Given the description of an element on the screen output the (x, y) to click on. 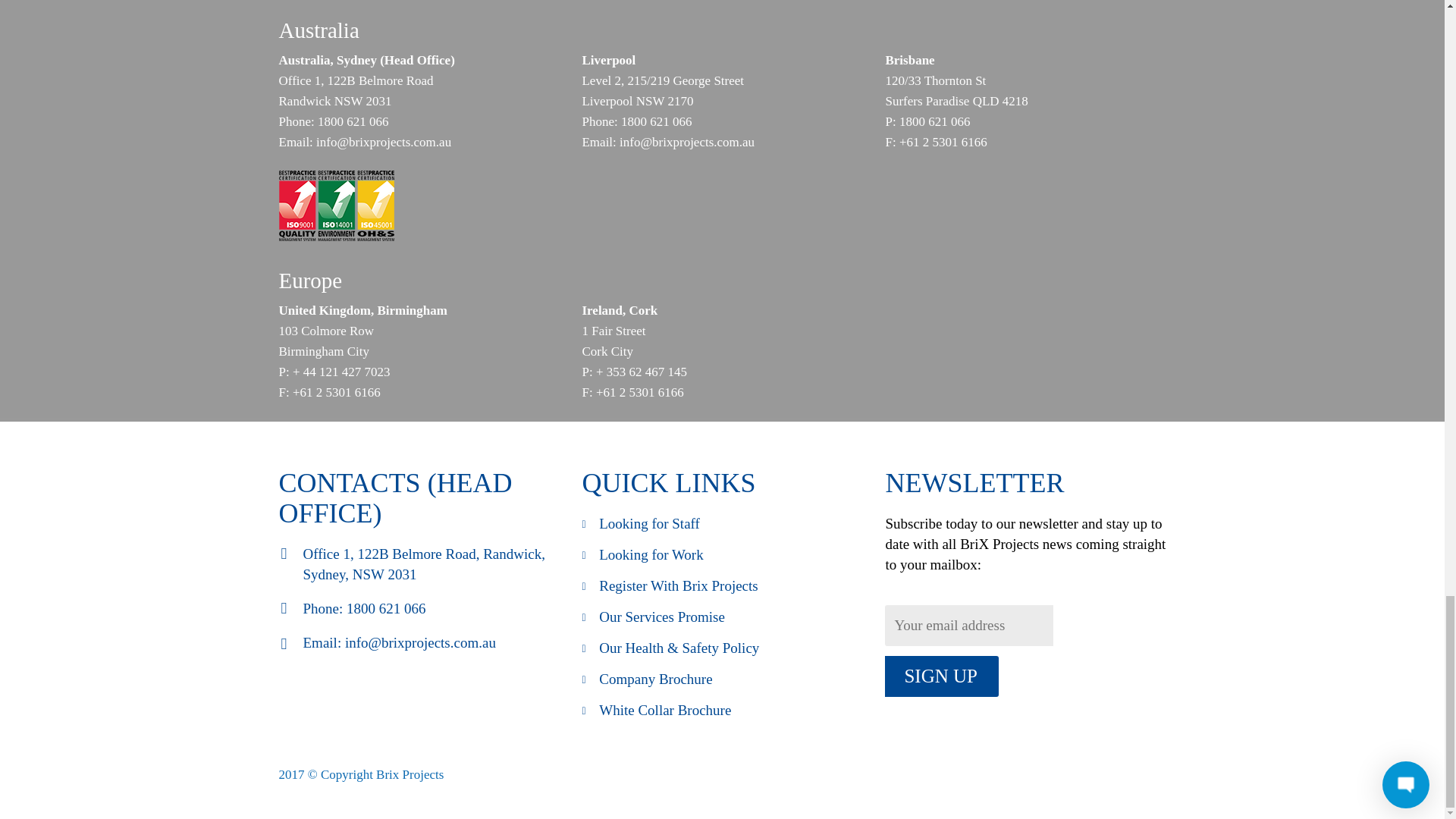
Sign up (941, 676)
